Given the description of an element on the screen output the (x, y) to click on. 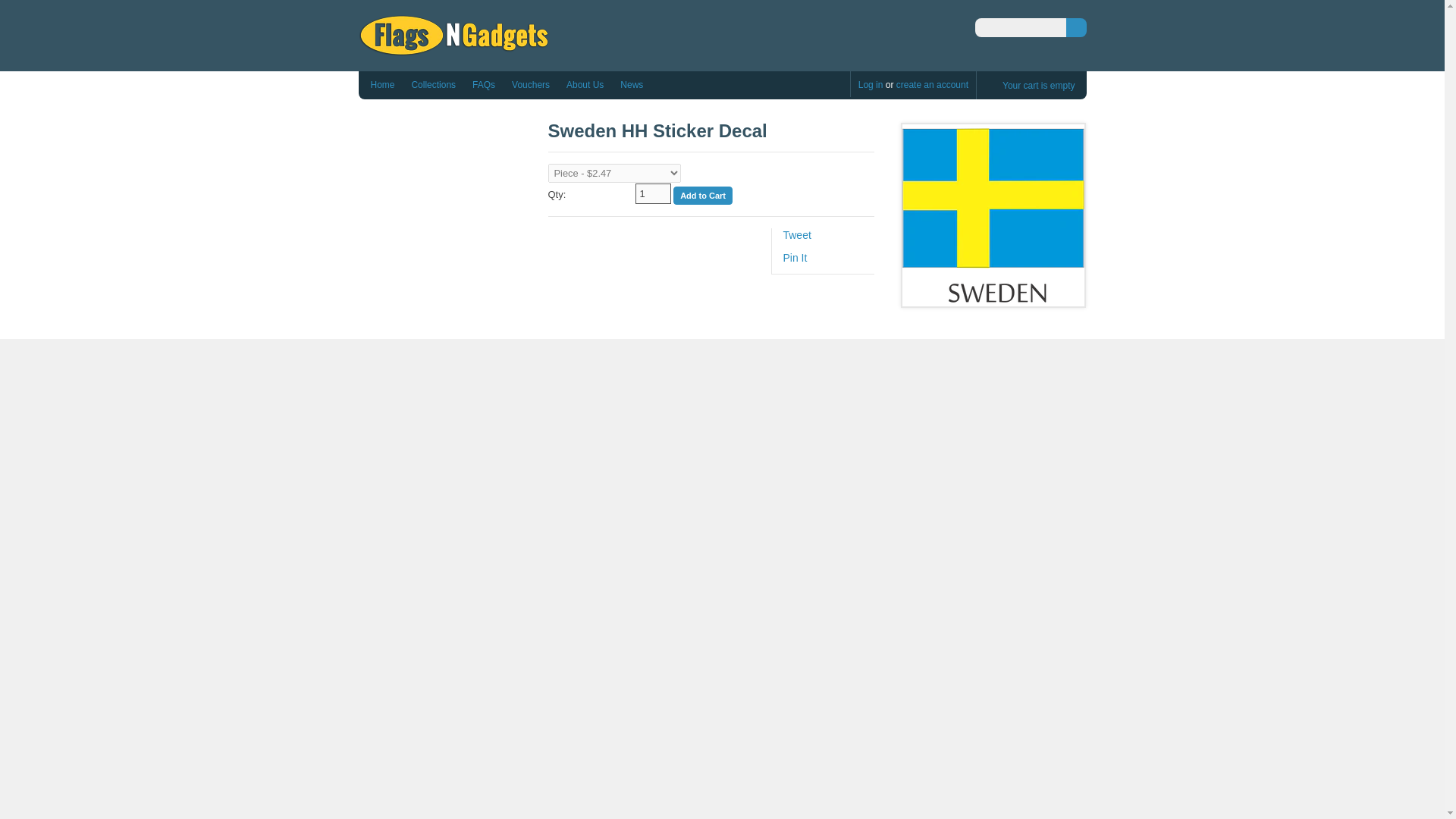
Collections (433, 85)
Pin It (794, 257)
FAQs (483, 85)
Add to Cart (702, 195)
1 (652, 193)
Search (1075, 27)
Search (1075, 27)
Home (381, 85)
create an account (932, 84)
About Us (585, 85)
Search (1075, 27)
News (631, 85)
Log in (871, 84)
Home (453, 48)
Add to Cart (702, 195)
